Given the description of an element on the screen output the (x, y) to click on. 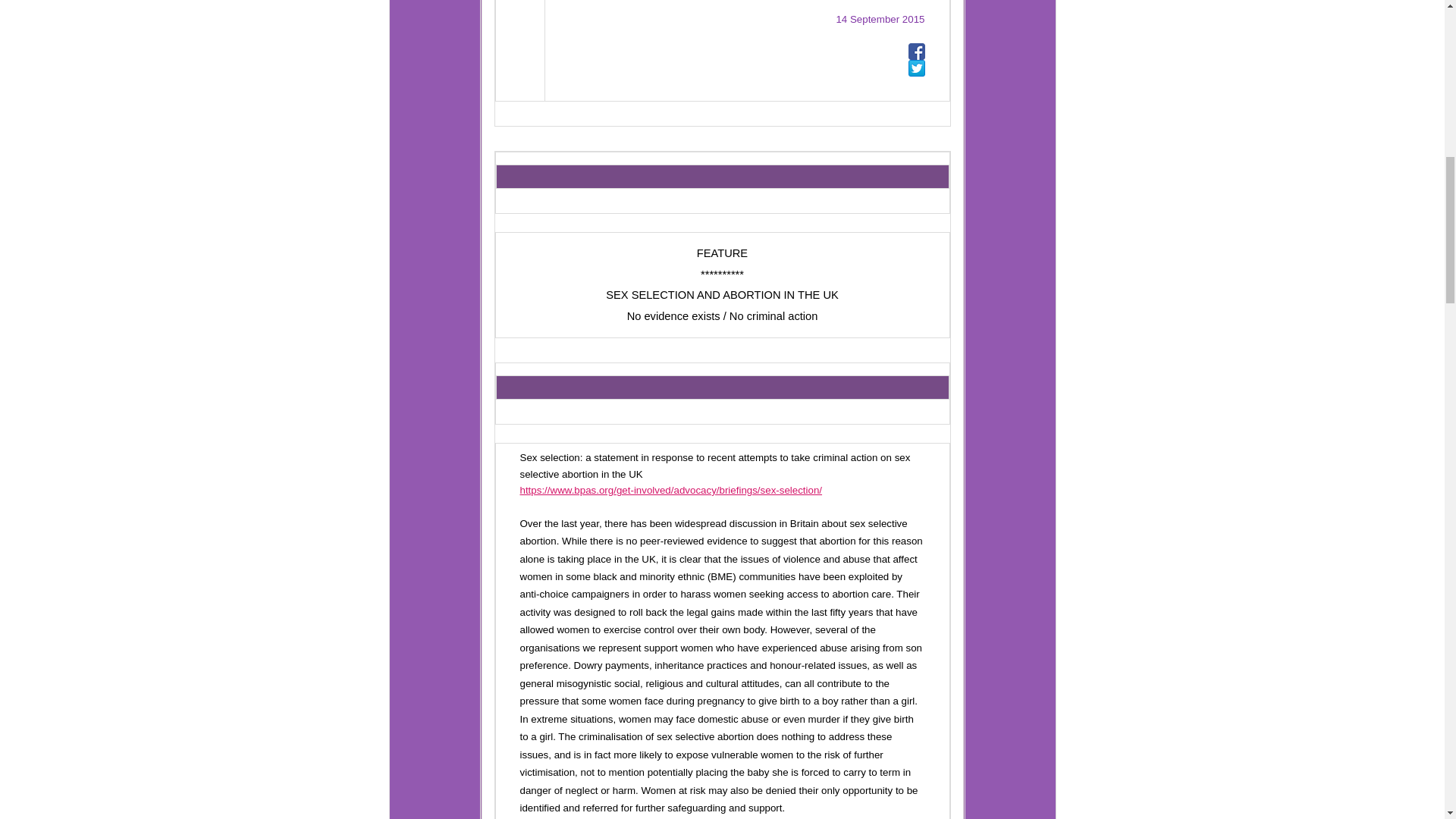
Like us on Facebook (916, 51)
Follow us on Twitter (916, 67)
